Given the description of an element on the screen output the (x, y) to click on. 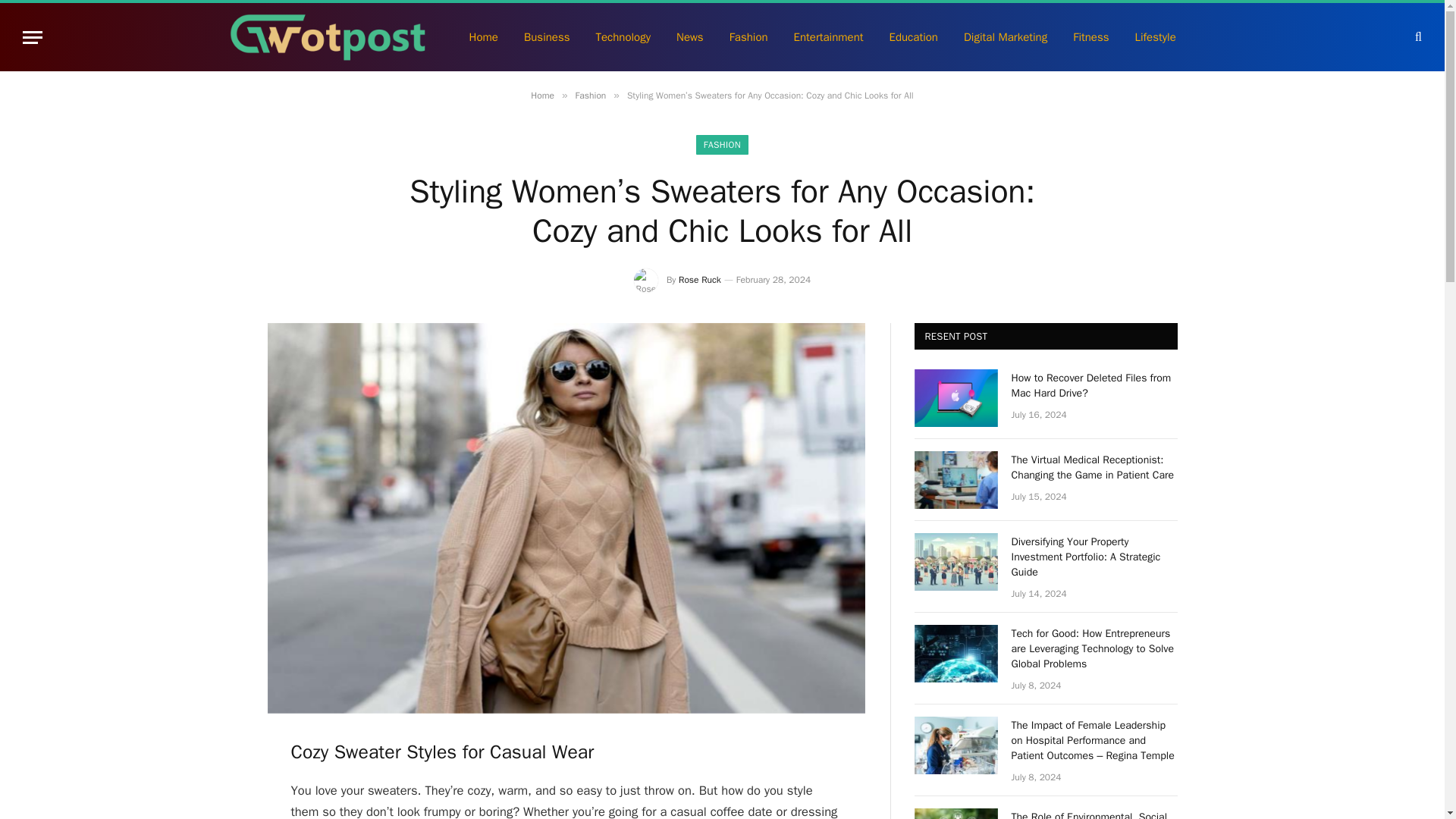
Home (542, 95)
Lifestyle (1155, 37)
Wotpost (329, 36)
Fitness (1090, 37)
Entertainment (828, 37)
Technology (622, 37)
Posts by Rose Ruck (699, 279)
Business (547, 37)
Digital Marketing (1004, 37)
